Given the description of an element on the screen output the (x, y) to click on. 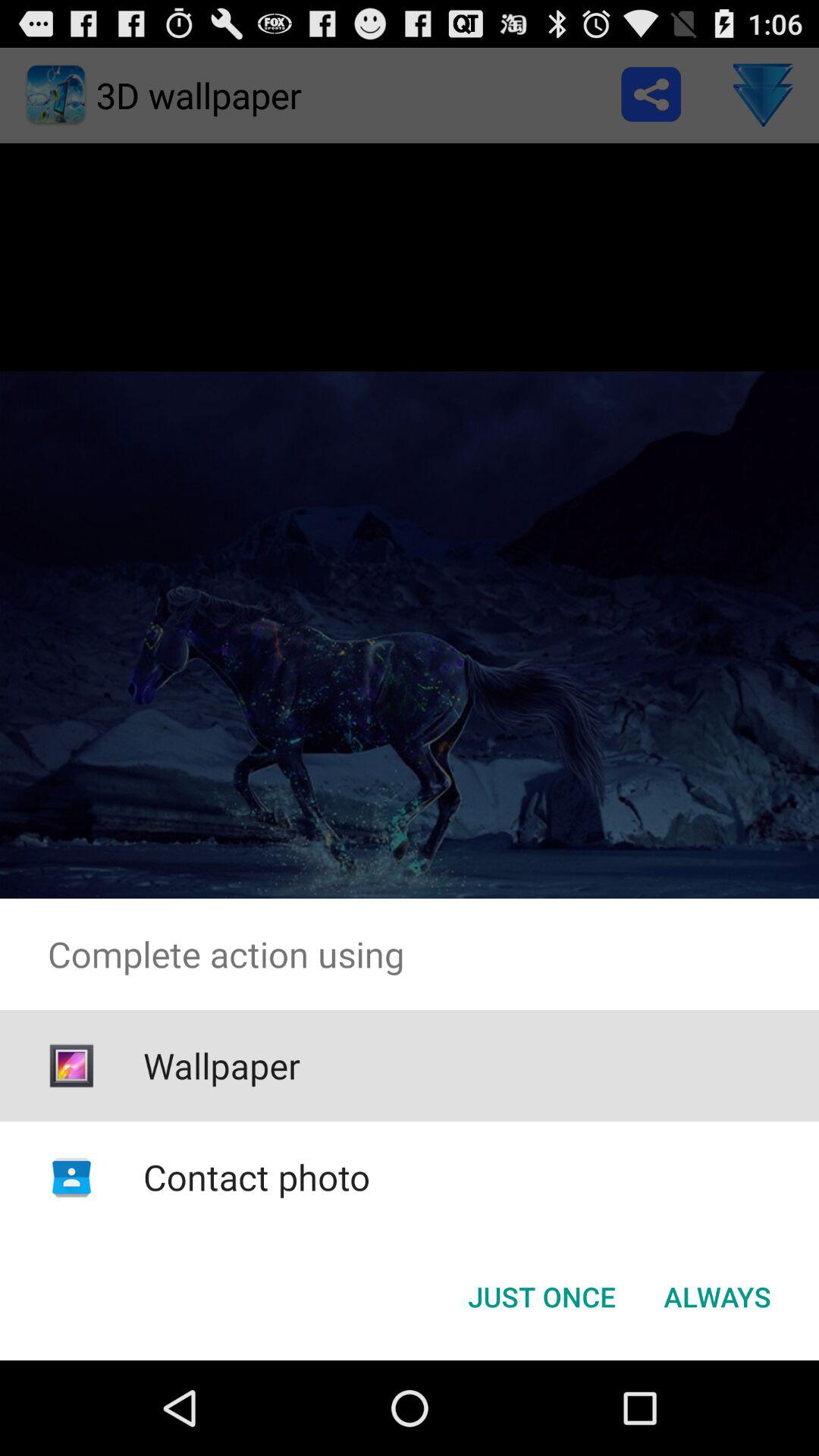
flip until the wallpaper (221, 1065)
